Given the description of an element on the screen output the (x, y) to click on. 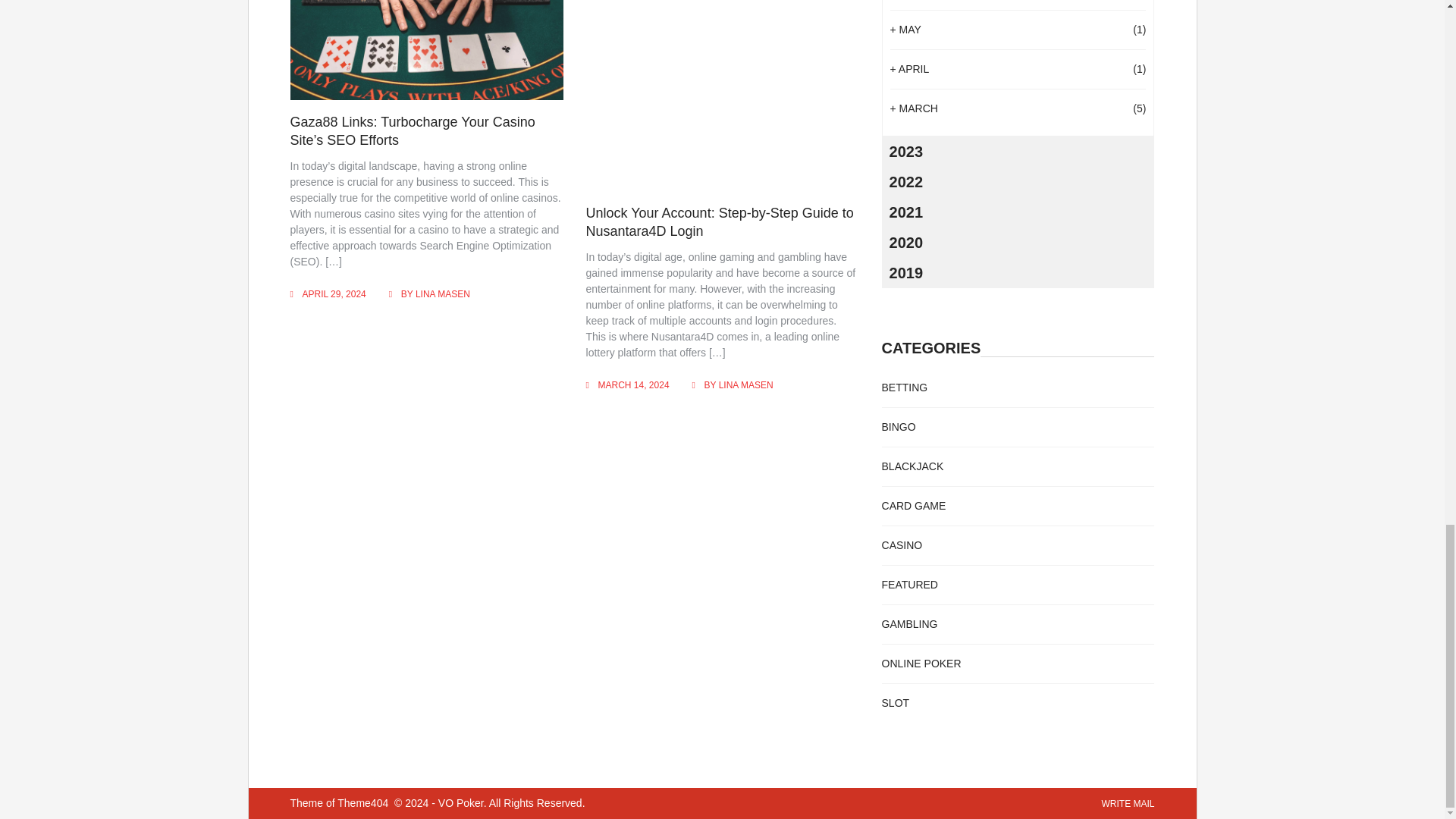
LINA MASEN (442, 294)
MARCH 14, 2024 (633, 385)
LINA MASEN (746, 385)
APRIL 29, 2024 (333, 294)
Unlock Your Account: Step-by-Step Guide to Nusantara4D Login (719, 221)
